Given the description of an element on the screen output the (x, y) to click on. 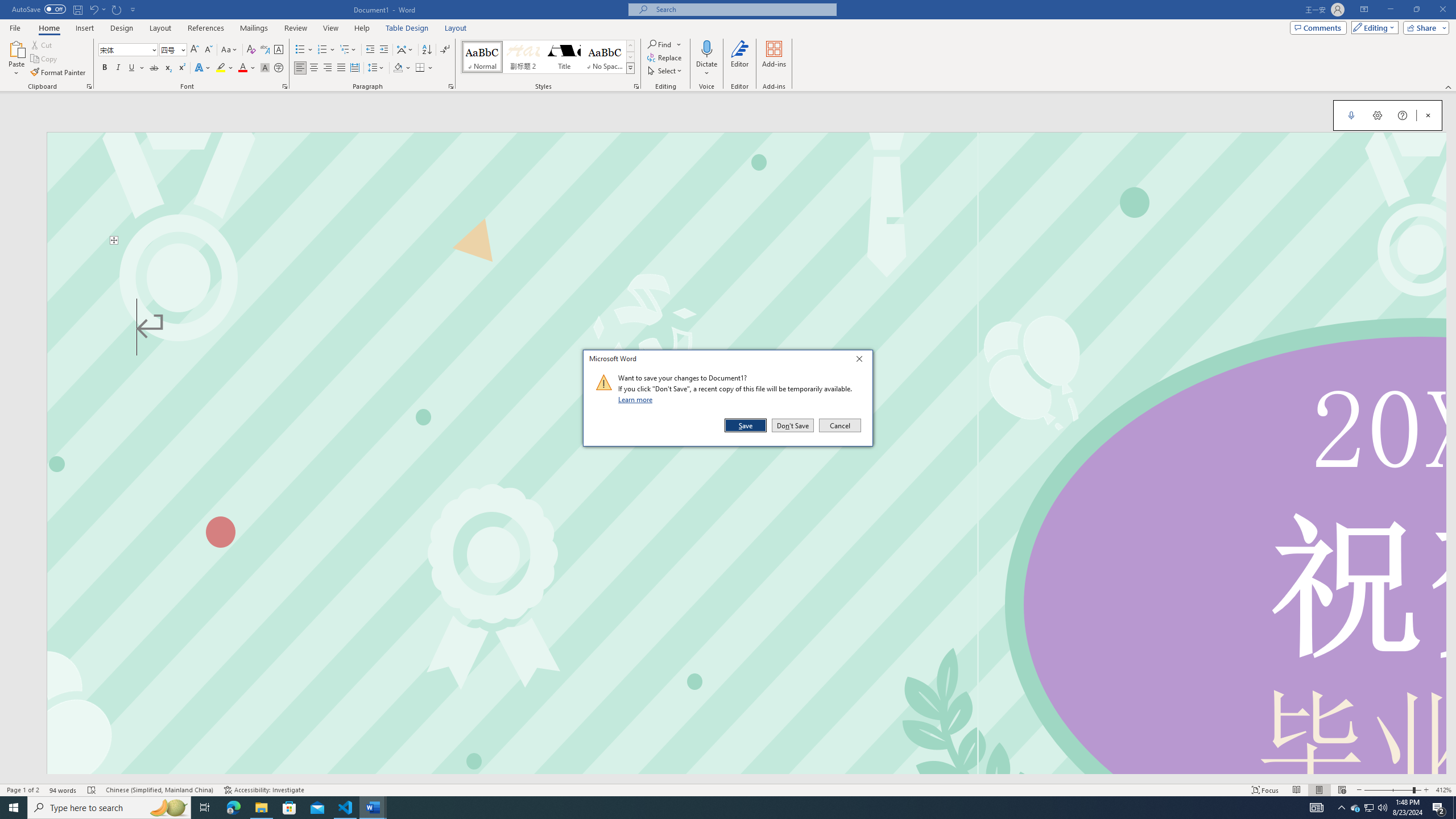
Show desktop (1454, 807)
Start Dictation (1368, 807)
Action Center, 2 new notifications (1350, 115)
Undo Text Fill Effect (1439, 807)
First Page Header -Section 1- (96, 9)
